Given the description of an element on the screen output the (x, y) to click on. 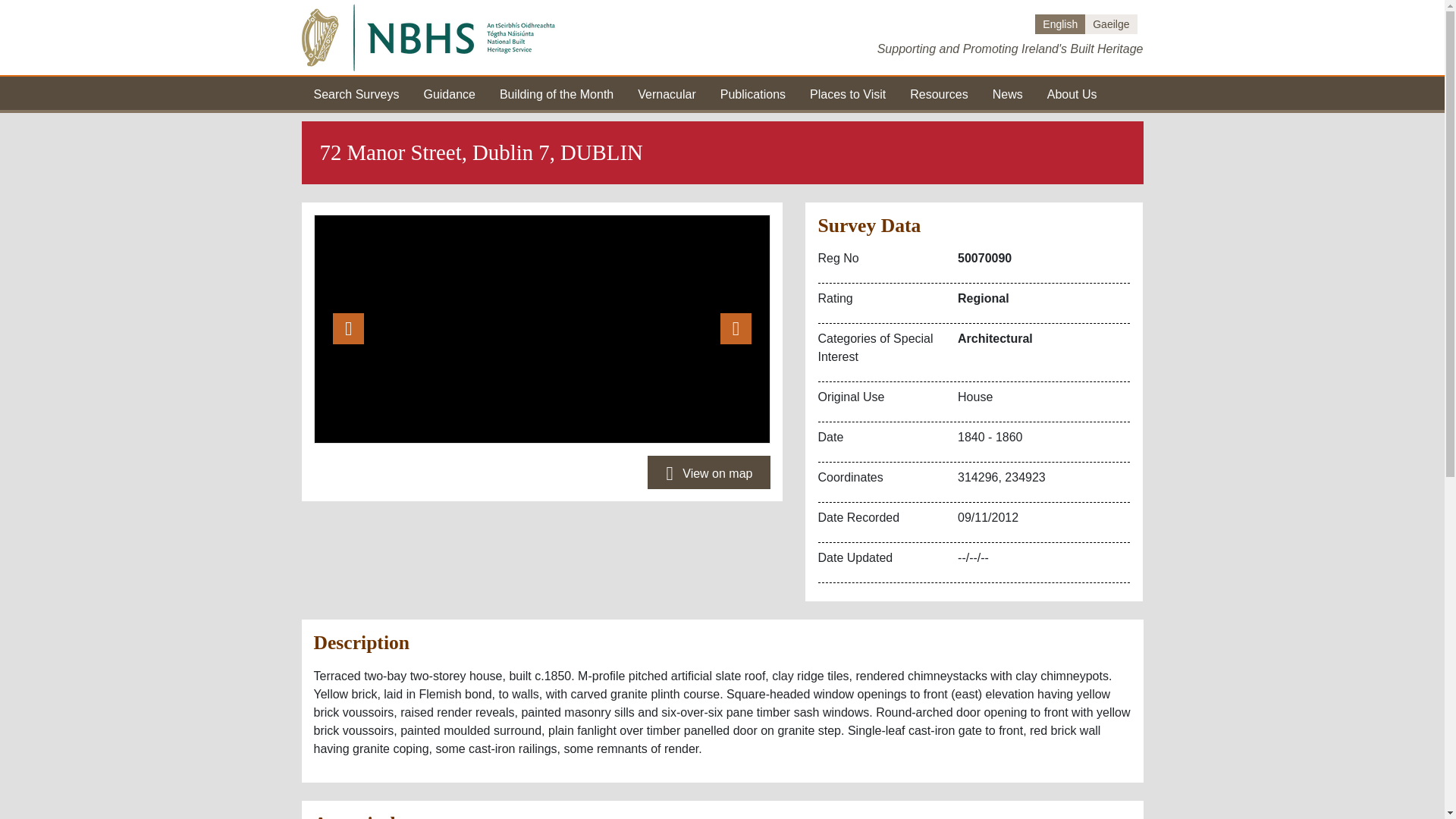
English (1059, 24)
Gaeilge (1110, 24)
News (1007, 92)
Vernacular (666, 92)
Guidance (449, 92)
View on map (708, 471)
Places to Visit (847, 92)
Resources (939, 92)
Building of the Month (555, 92)
About Us (1071, 92)
Publications (753, 92)
Search Surveys (356, 92)
